Given the description of an element on the screen output the (x, y) to click on. 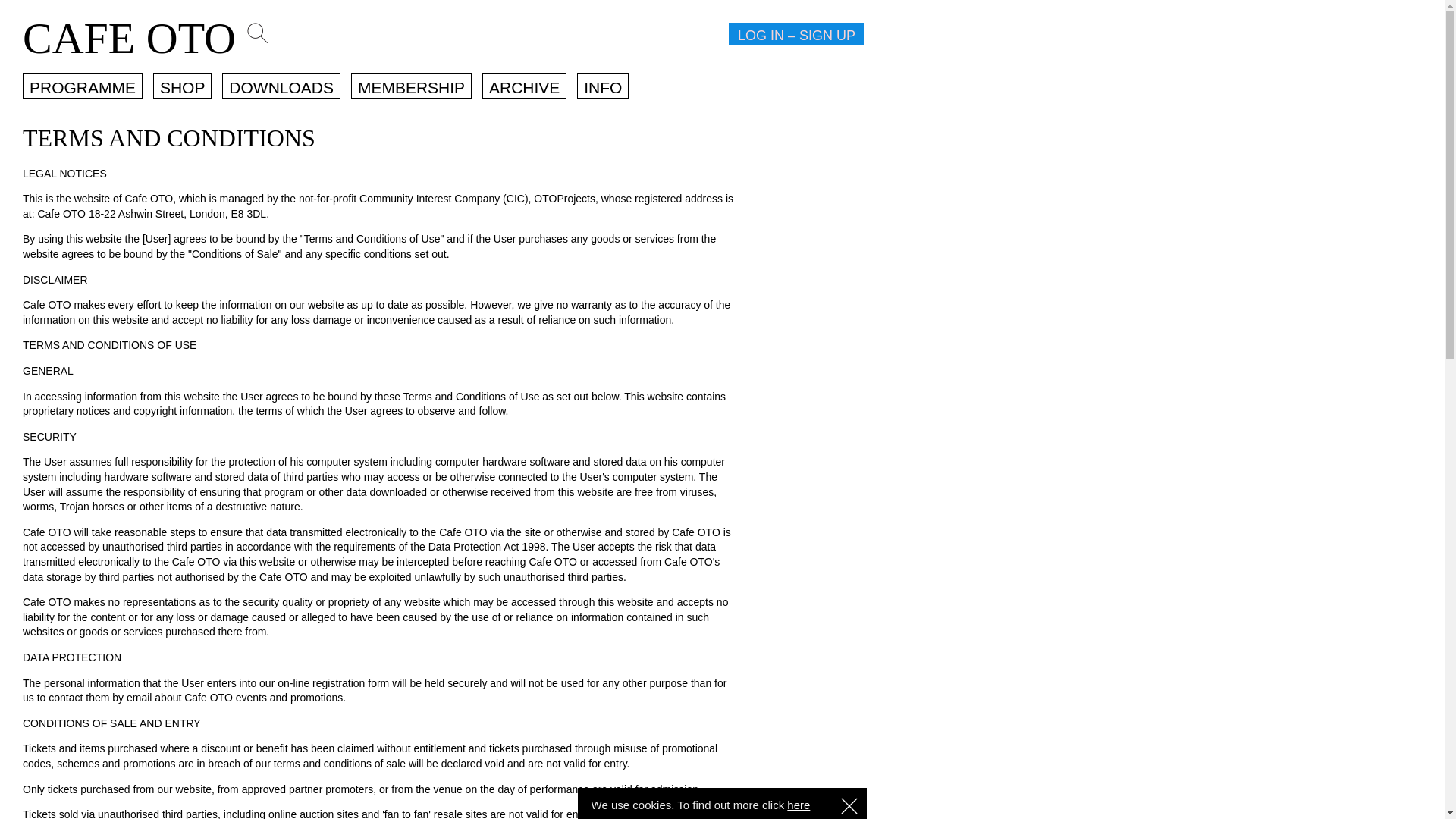
ARCHIVE (523, 85)
MEMBERSHIP (410, 85)
PROGRAMME (82, 85)
CAFE OTO (129, 38)
I Understand (849, 805)
INFO (602, 85)
SHOP (182, 85)
DOWNLOADS (281, 85)
here (798, 804)
